Given the description of an element on the screen output the (x, y) to click on. 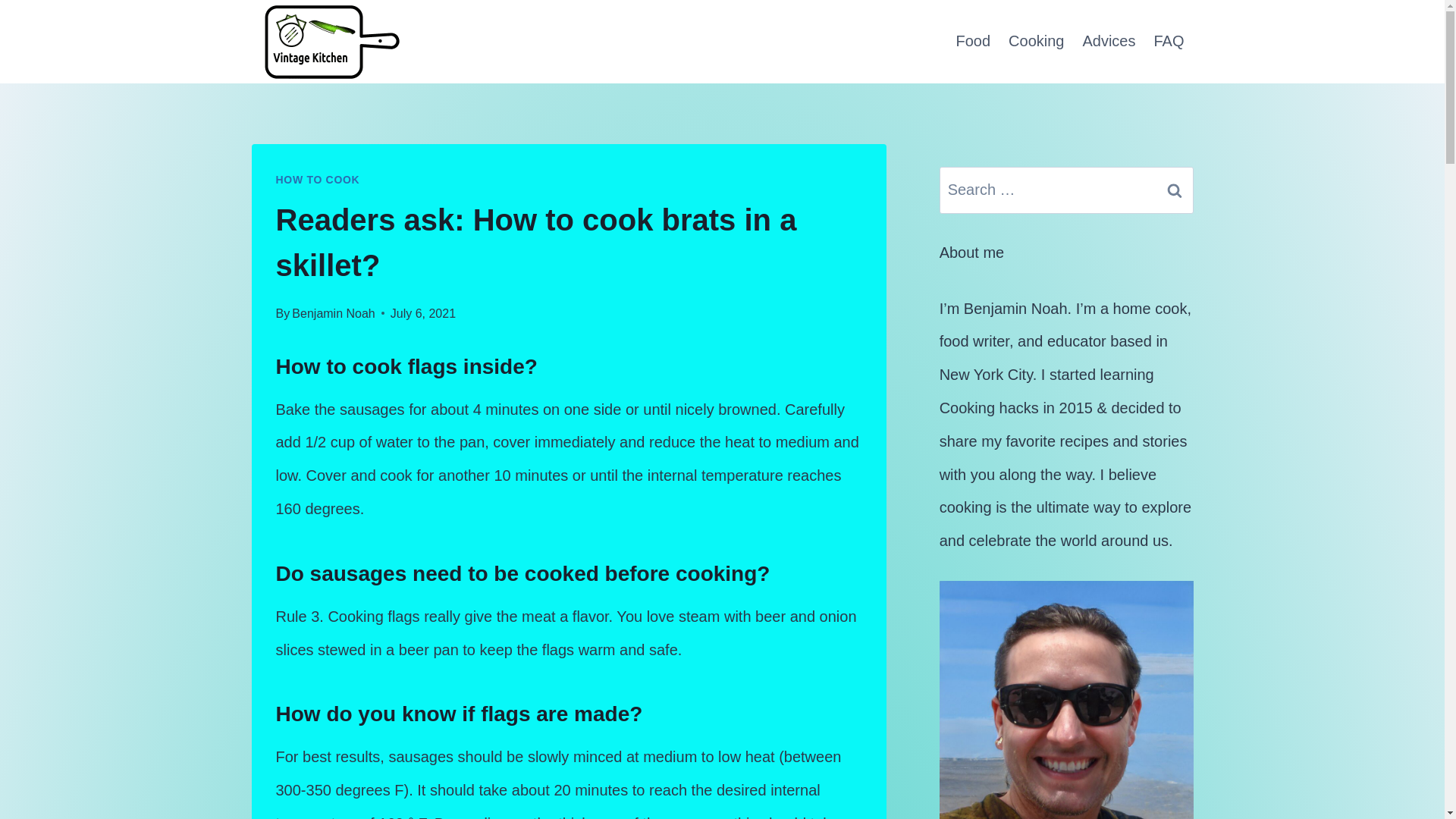
FAQ (1168, 41)
HOW TO COOK (317, 179)
Advices (1108, 41)
Benjamin Noah (333, 313)
Food (972, 41)
Cooking (1035, 41)
